Given the description of an element on the screen output the (x, y) to click on. 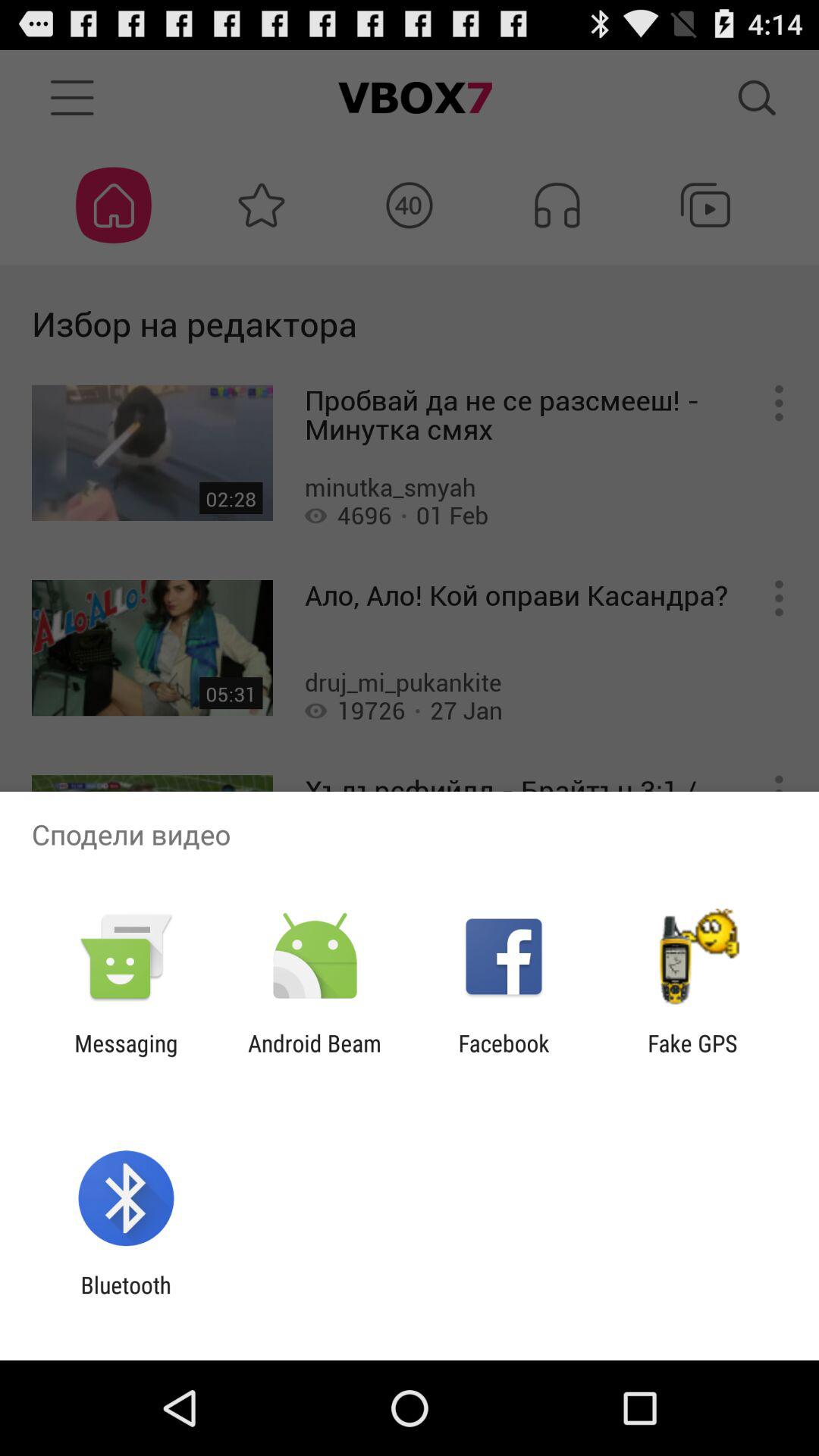
jump until the fake gps (692, 1056)
